Given the description of an element on the screen output the (x, y) to click on. 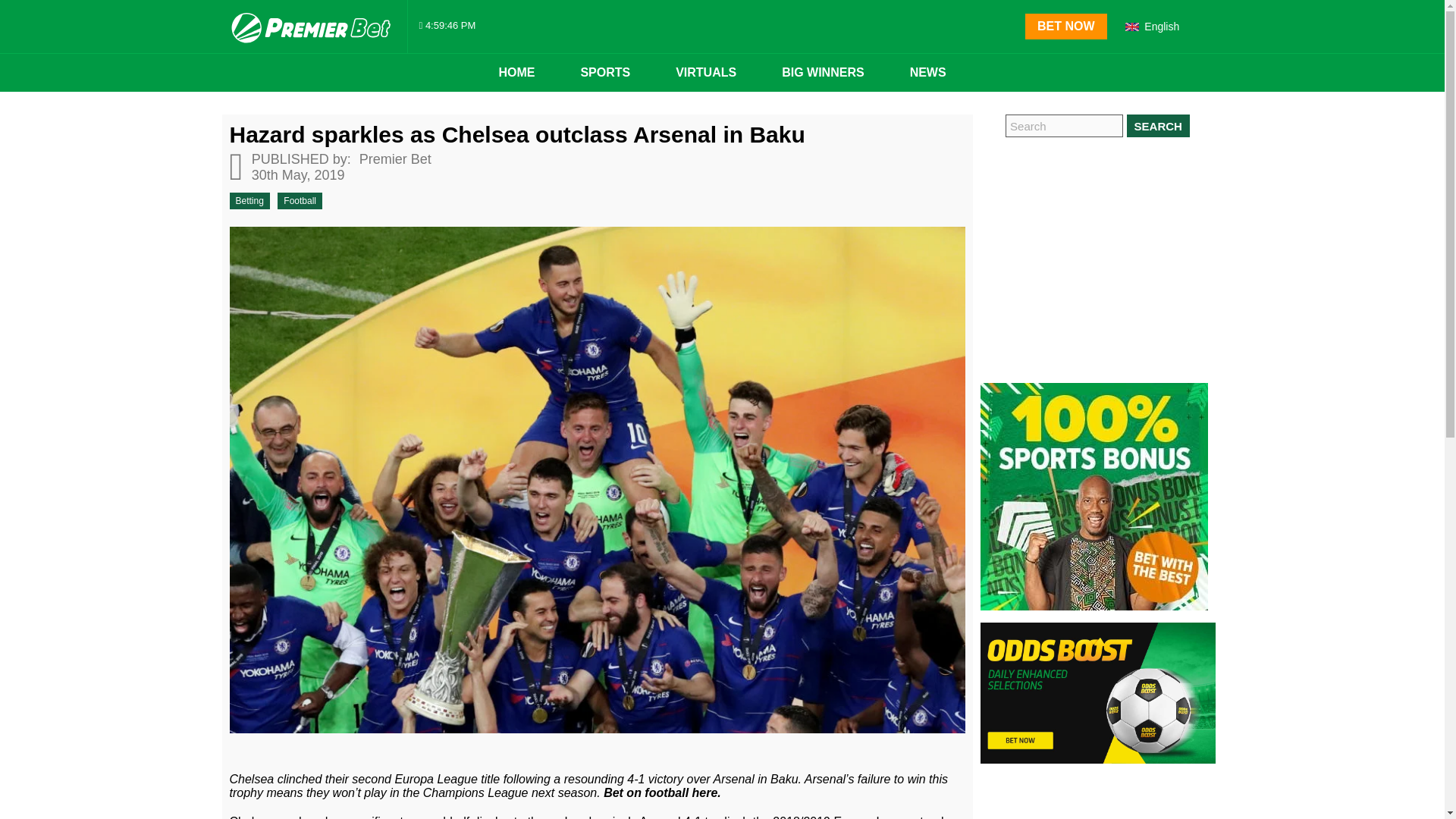
BIG WINNERS (822, 72)
BET NOW (1065, 26)
Premier Bet (392, 159)
NEWS (927, 72)
Football (299, 200)
HOME (516, 72)
Bet on football here. (662, 792)
SEARCH (1157, 125)
Betting (248, 200)
